Given the description of an element on the screen output the (x, y) to click on. 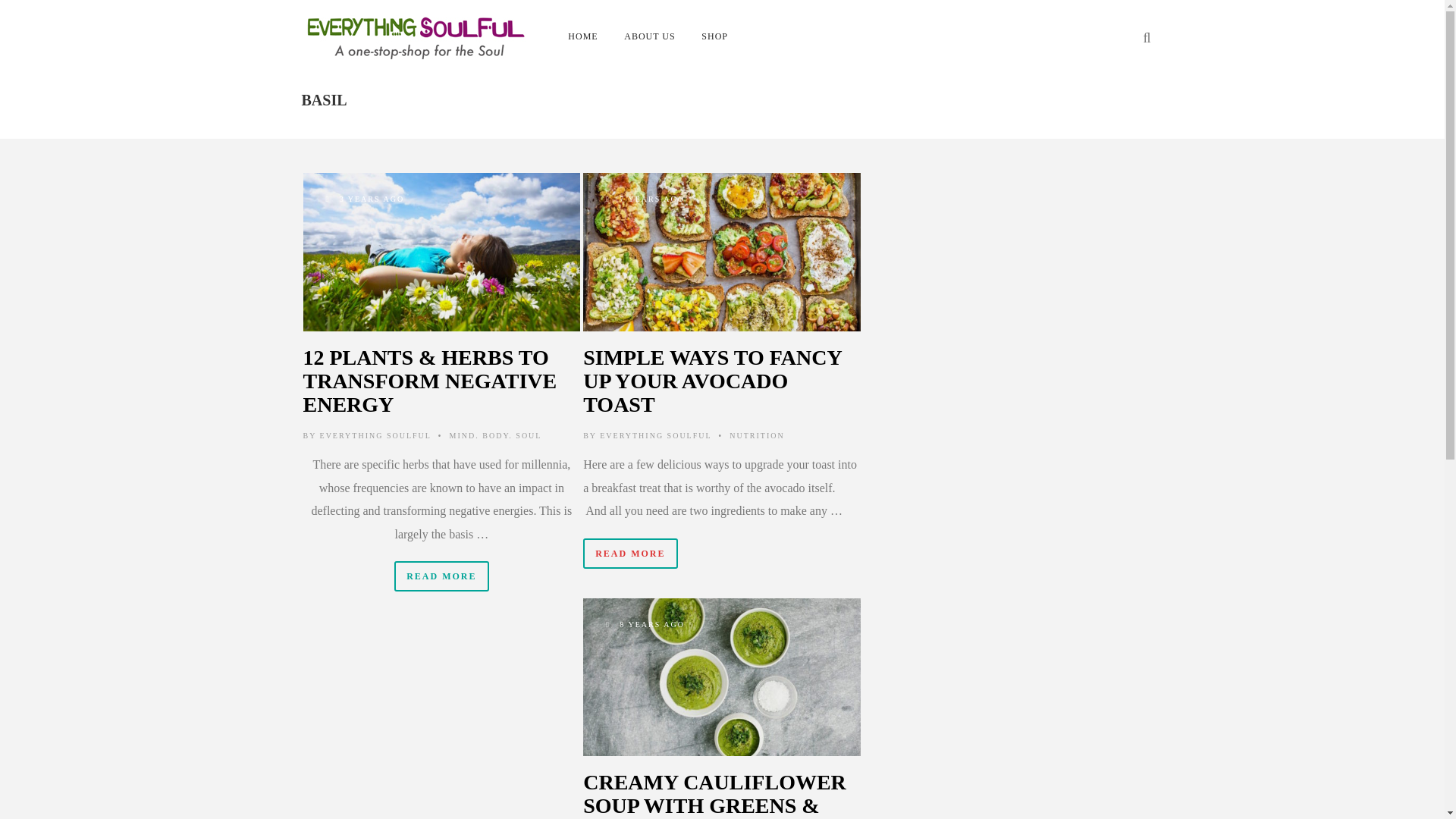
7 YEARS AGO (721, 251)
EVERYTHING SOULFUL (375, 435)
More Mind. Body. Soul Posts (495, 435)
Posts by EVERYTHiNG SOULFuL (375, 435)
MIND. BODY. SOUL (495, 435)
ABOUT US (649, 35)
More Nutrition Posts (756, 435)
SIMPLE WAYS TO FANCY UP YOUR AVOCADO TOAST (712, 380)
EVERYTHING SOULFUL (655, 435)
Simple Ways to Fancy Up Your Avocado Toast (721, 251)
SHOP (714, 35)
NUTRITION (756, 435)
3 YEARS AGO (441, 251)
HOME (583, 35)
READ MORE (440, 576)
